Given the description of an element on the screen output the (x, y) to click on. 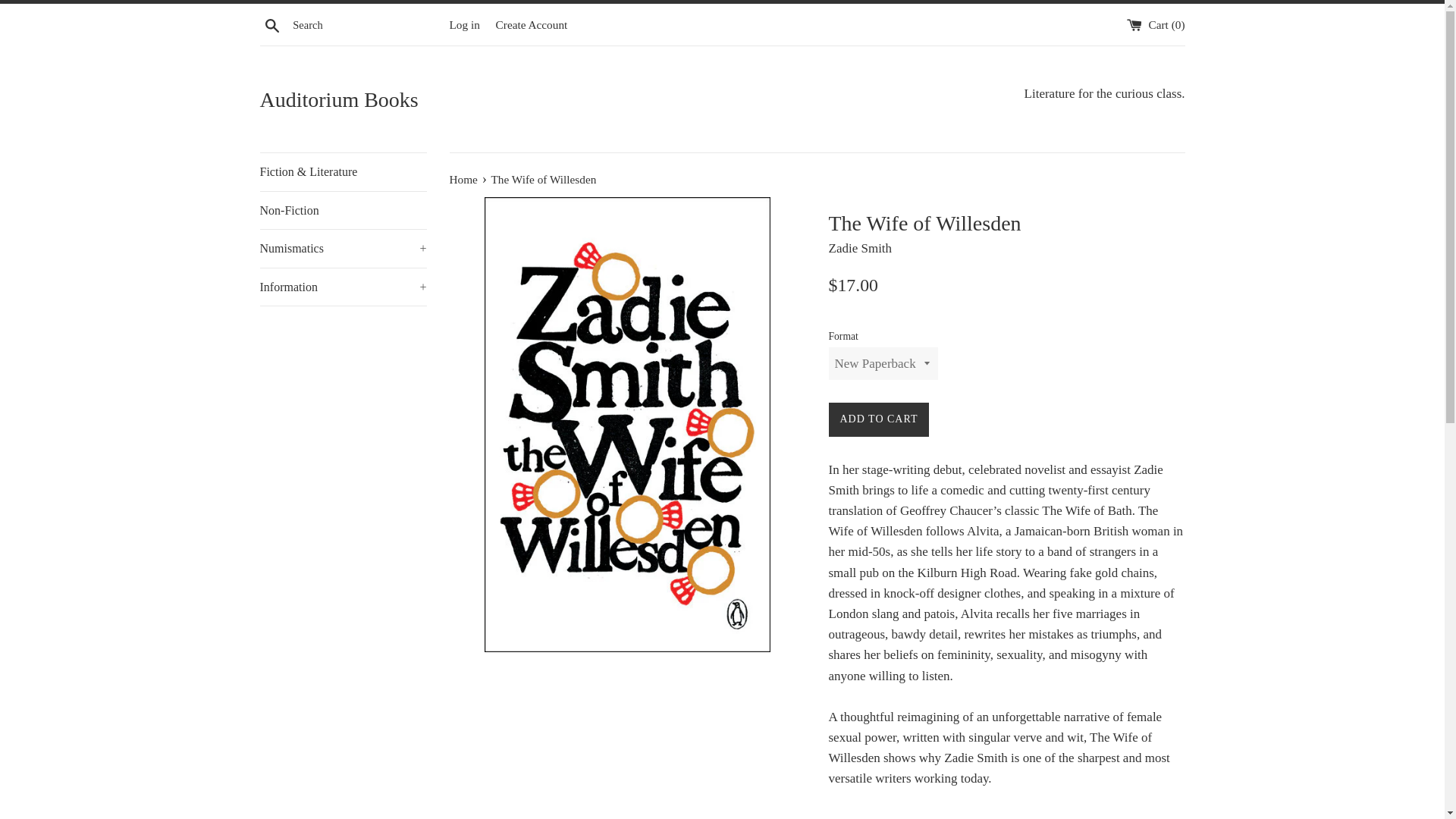
Non-Fiction (342, 210)
Search (271, 24)
Auditorium Books (490, 99)
ADD TO CART (878, 419)
Create Account (531, 24)
Home (464, 178)
Log in (463, 24)
Back to the frontpage (464, 178)
